Given the description of an element on the screen output the (x, y) to click on. 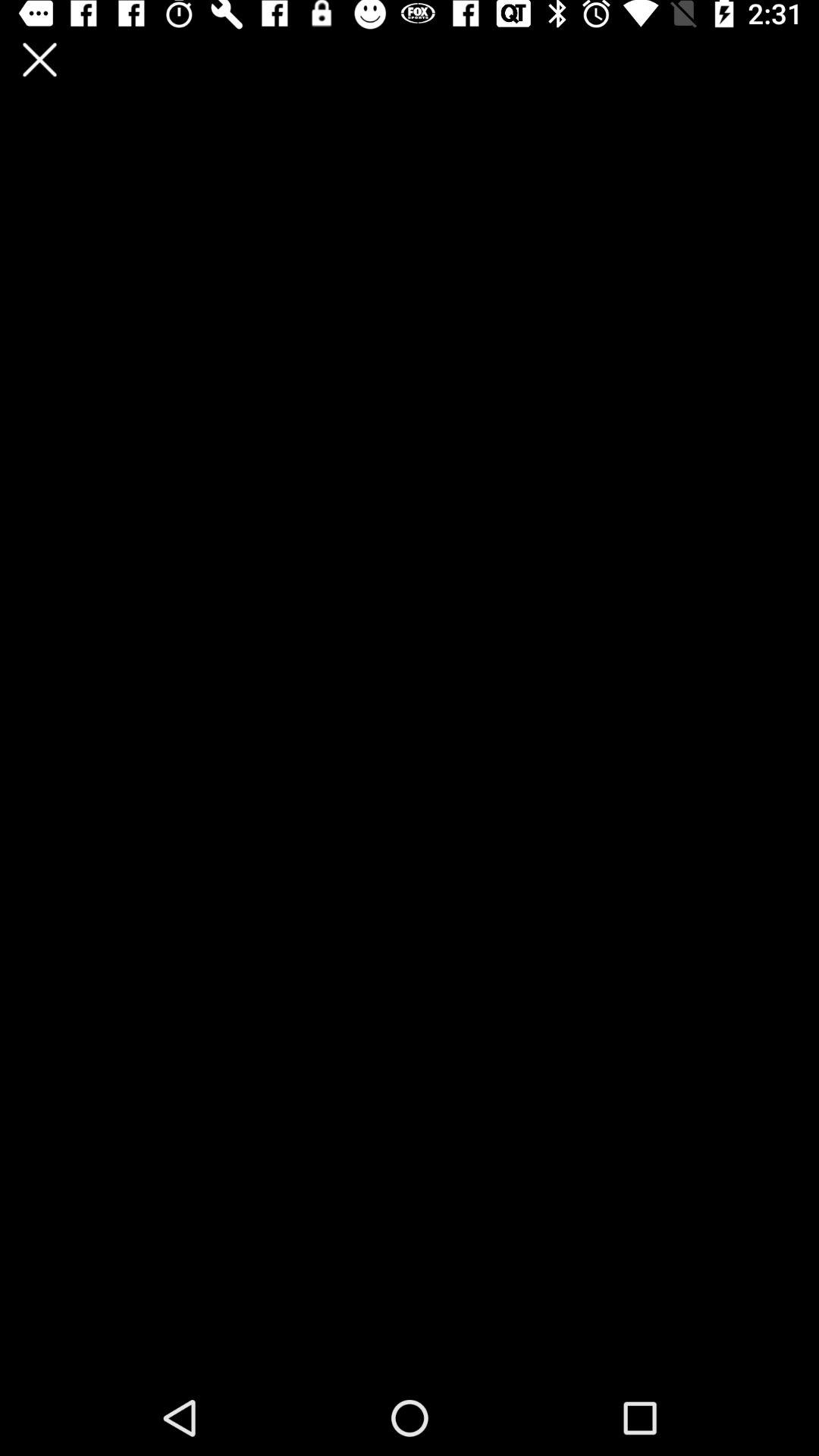
close the app (39, 59)
